Given the description of an element on the screen output the (x, y) to click on. 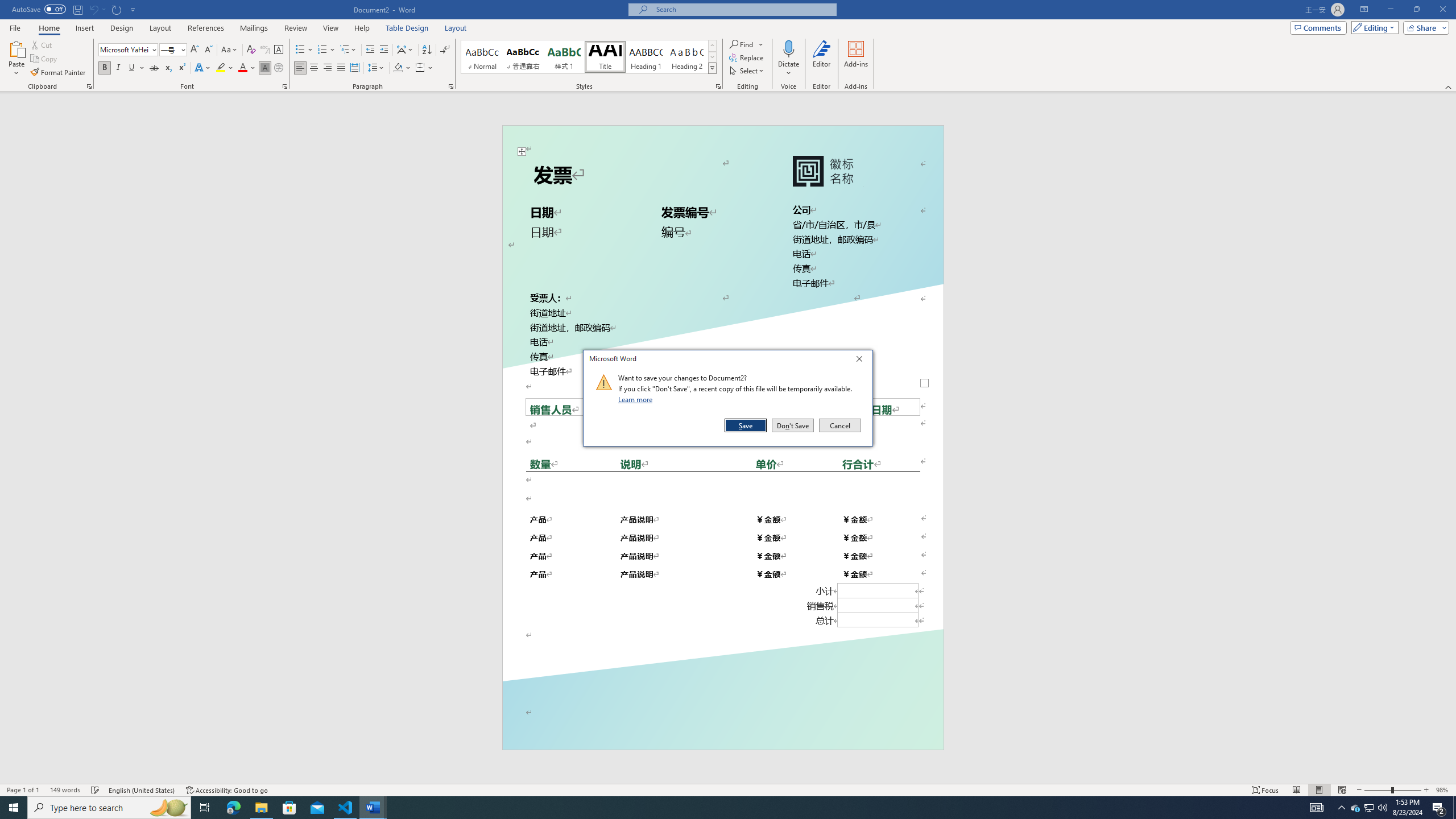
Running applications (717, 807)
Word - 2 running windows (373, 807)
Title (605, 56)
